Given the description of an element on the screen output the (x, y) to click on. 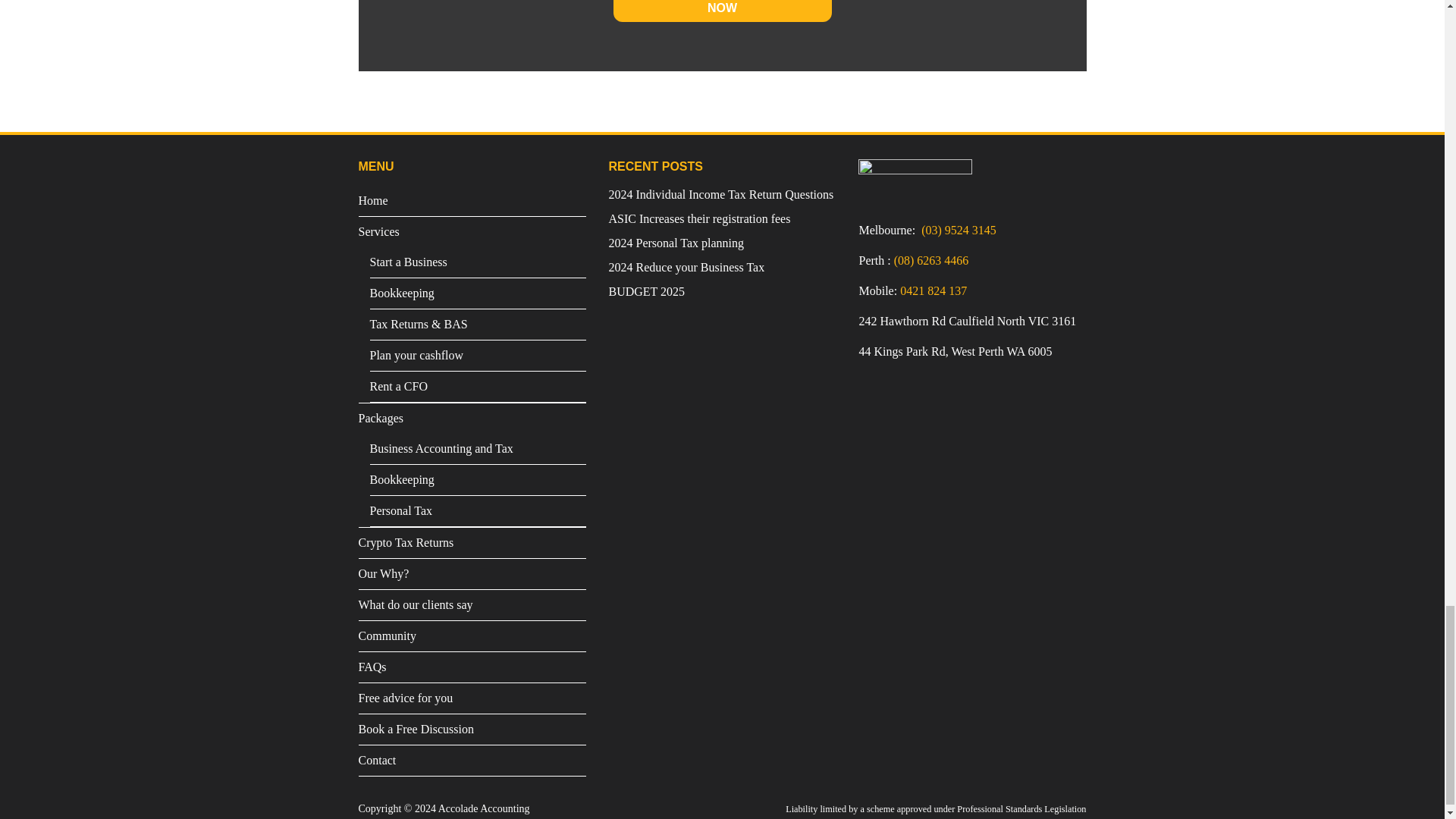
Business Accounting and Tax (477, 449)
Start a Business (477, 262)
Rent a CFO (477, 386)
Packages (472, 418)
Plan your cashflow (477, 355)
Bookkeeping (477, 293)
Home (472, 200)
Bookkeeping (477, 480)
Services (472, 232)
Book me a FREE discussion NOW (721, 11)
